Given the description of an element on the screen output the (x, y) to click on. 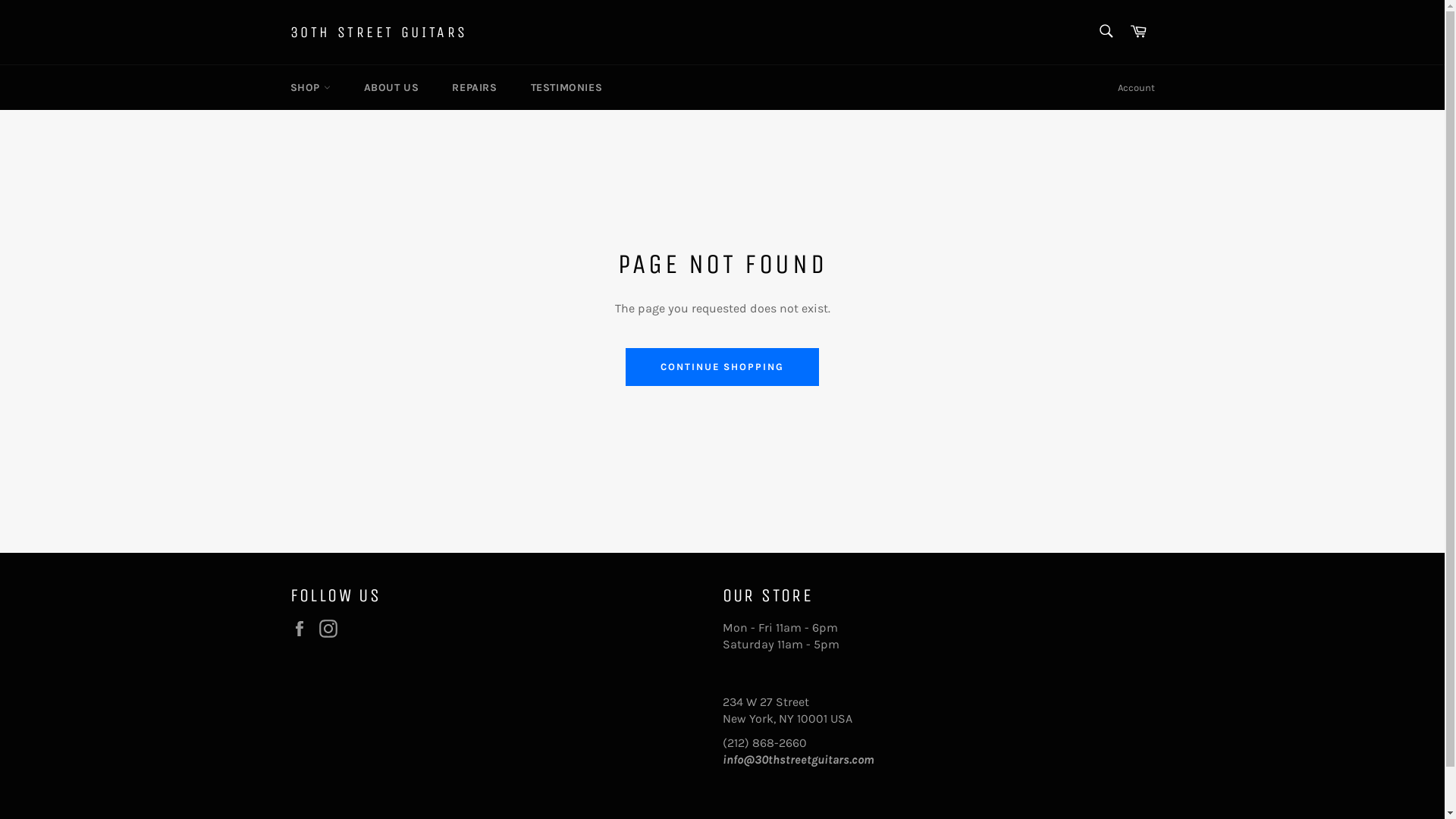
SHOP Element type: text (309, 87)
Search Element type: text (1105, 31)
Account Element type: text (1136, 87)
30TH STREET GUITARS Element type: text (378, 32)
Instagram Element type: text (331, 628)
ABOUT US Element type: text (391, 87)
REPAIRS Element type: text (473, 87)
info@30thstreetguitars.com Element type: text (797, 759)
CONTINUE SHOPPING Element type: text (722, 366)
Facebook Element type: text (302, 628)
TESTIMONIES Element type: text (566, 87)
Cart Element type: text (1138, 32)
